Given the description of an element on the screen output the (x, y) to click on. 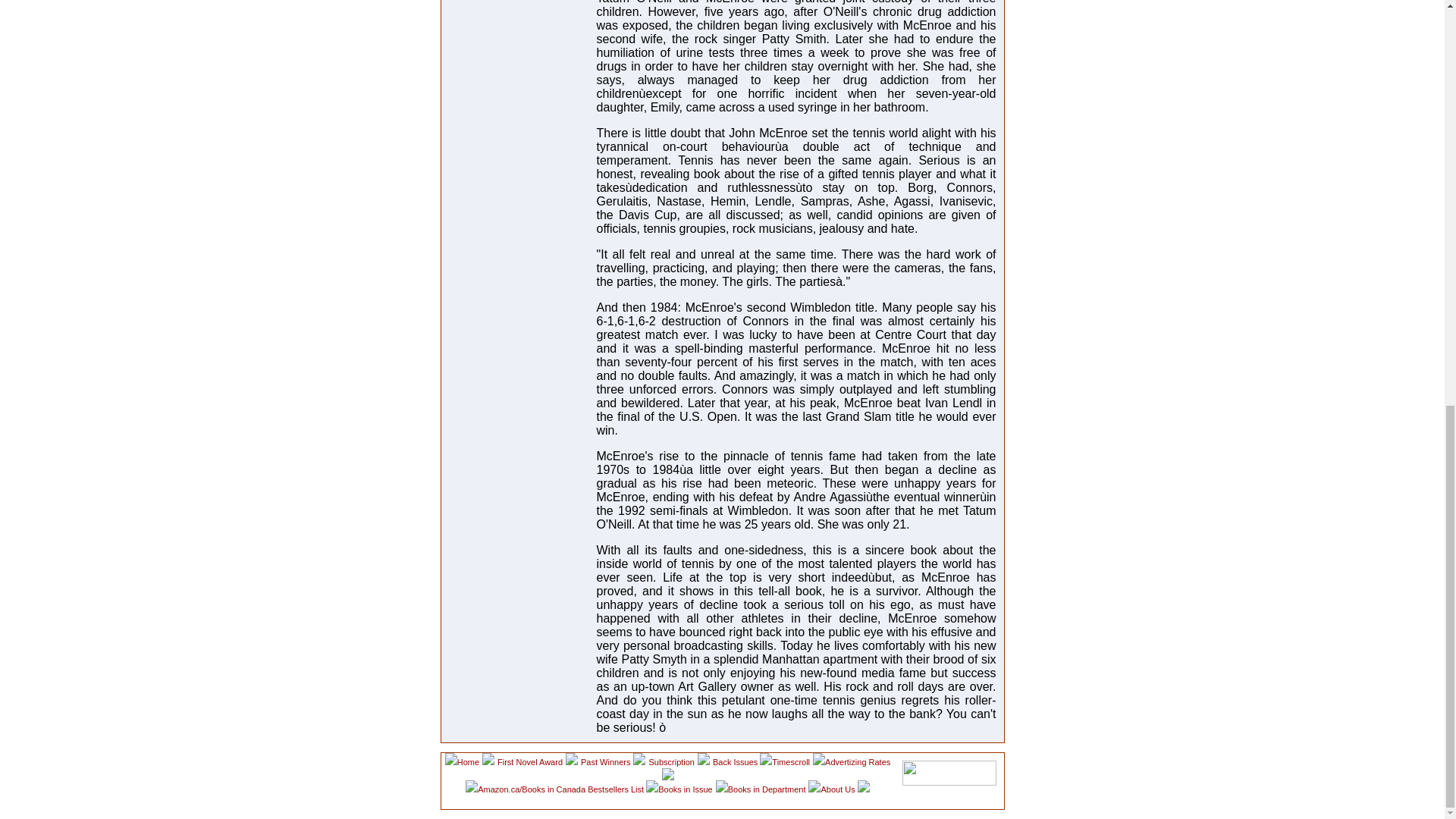
Advertizing Rates (857, 761)
Past Winners (605, 761)
Books in Department (767, 788)
Timescroll (790, 761)
Timescroll (790, 761)
First Novel Award (529, 761)
Advertizing Rates (857, 761)
About Us (839, 788)
Back Issues (736, 761)
Books in Issue (685, 788)
First Novel Award (529, 761)
Home (468, 761)
Subscription (670, 761)
Subscription (670, 761)
Home (468, 761)
